Given the description of an element on the screen output the (x, y) to click on. 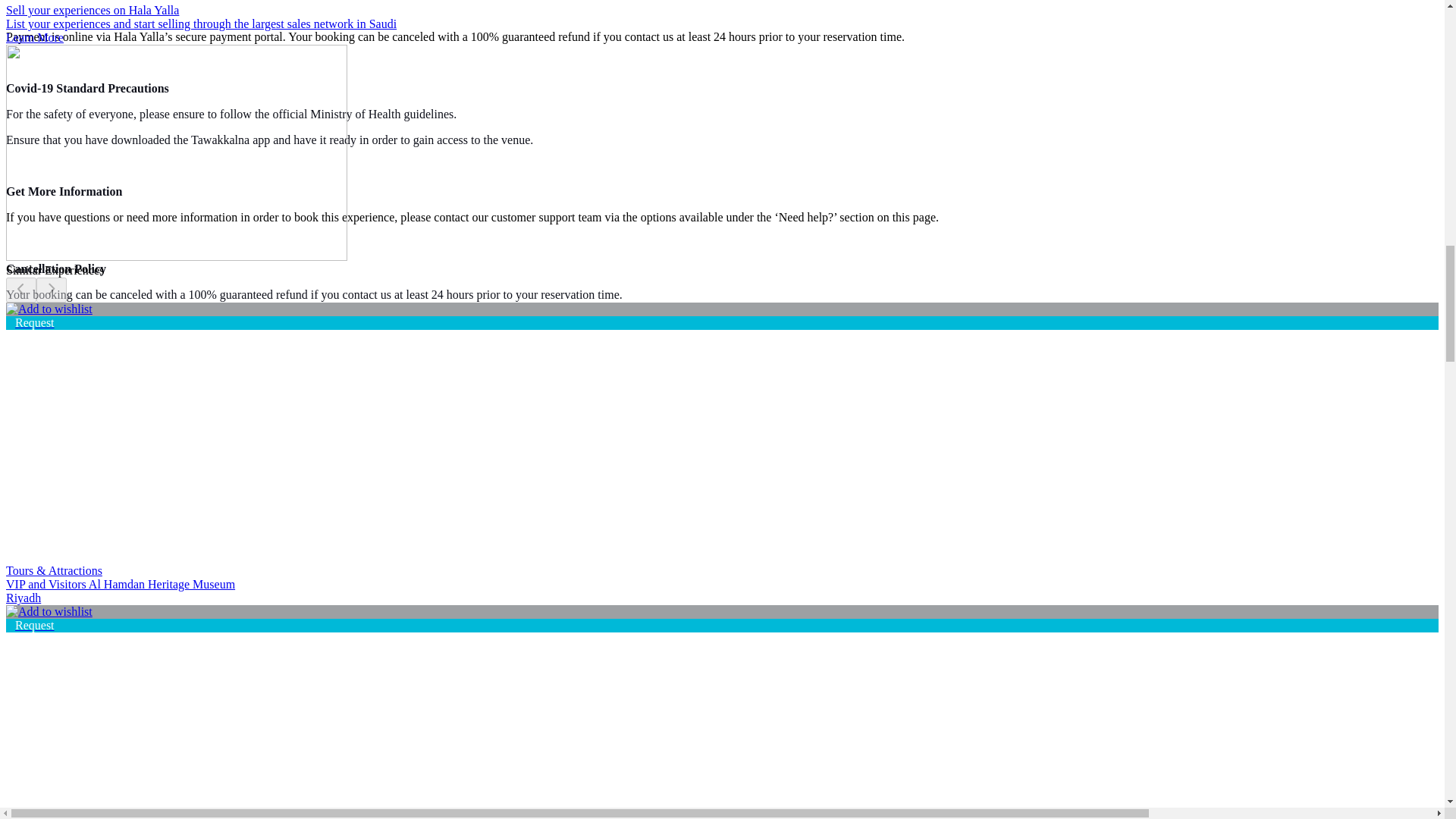
VIP and Visitors Al Hamdan Heritage Museum (167, 416)
Add to wishlist (49, 612)
Add to wishlist (49, 309)
Rabbit Hole experiential lounge (167, 718)
